Given the description of an element on the screen output the (x, y) to click on. 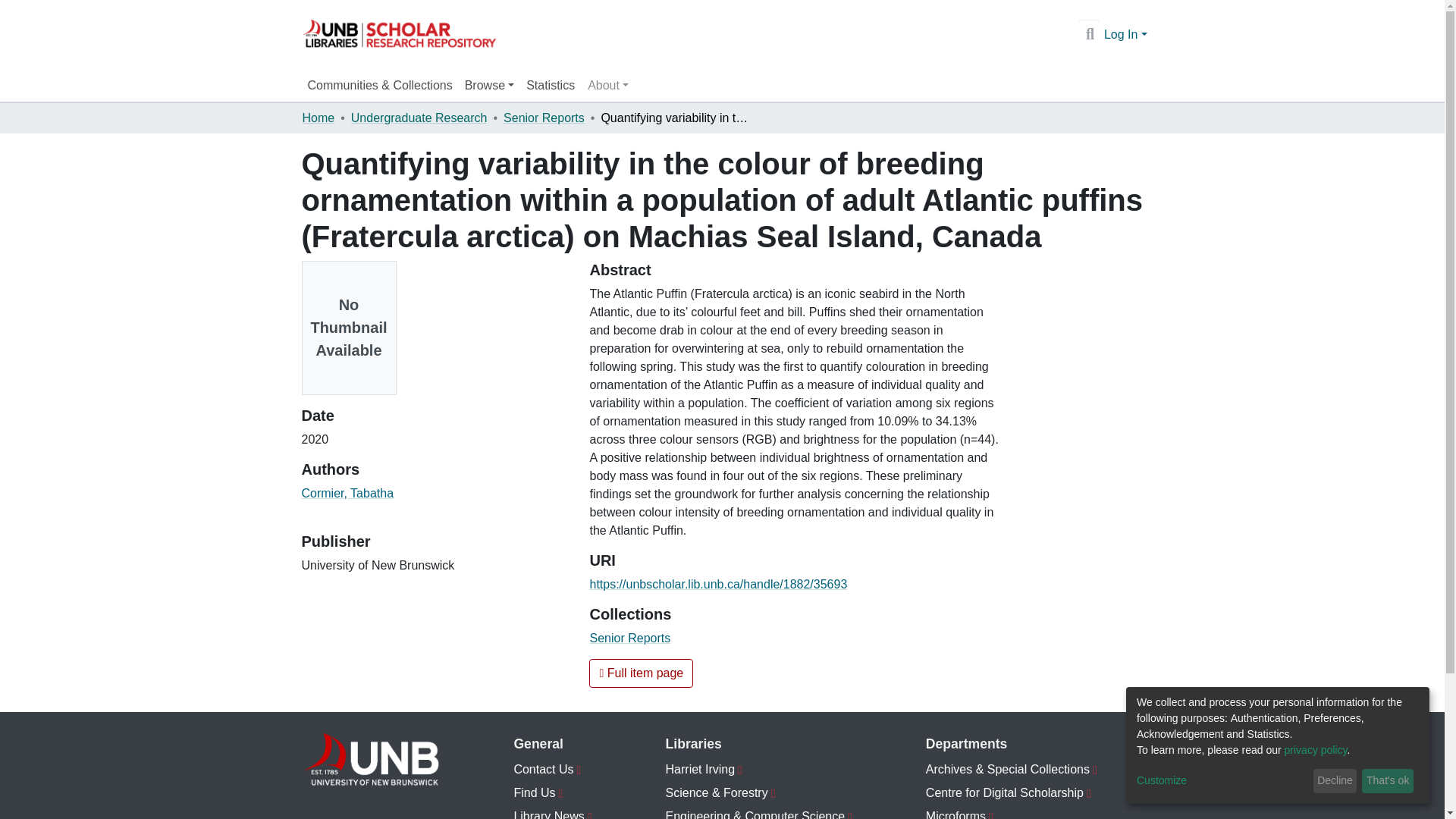
Centre for Digital Scholarship (1034, 793)
Microforms (1034, 812)
Statistics (549, 85)
Senior Reports (544, 117)
Statistics (549, 85)
About (607, 85)
Log In (1125, 33)
Library News (552, 812)
Harriet Irving (759, 770)
Undergraduate Research (418, 117)
Cormier, Tabatha (347, 492)
Search (1089, 34)
Home (317, 117)
Find Us (552, 793)
Contact Us (552, 770)
